Given the description of an element on the screen output the (x, y) to click on. 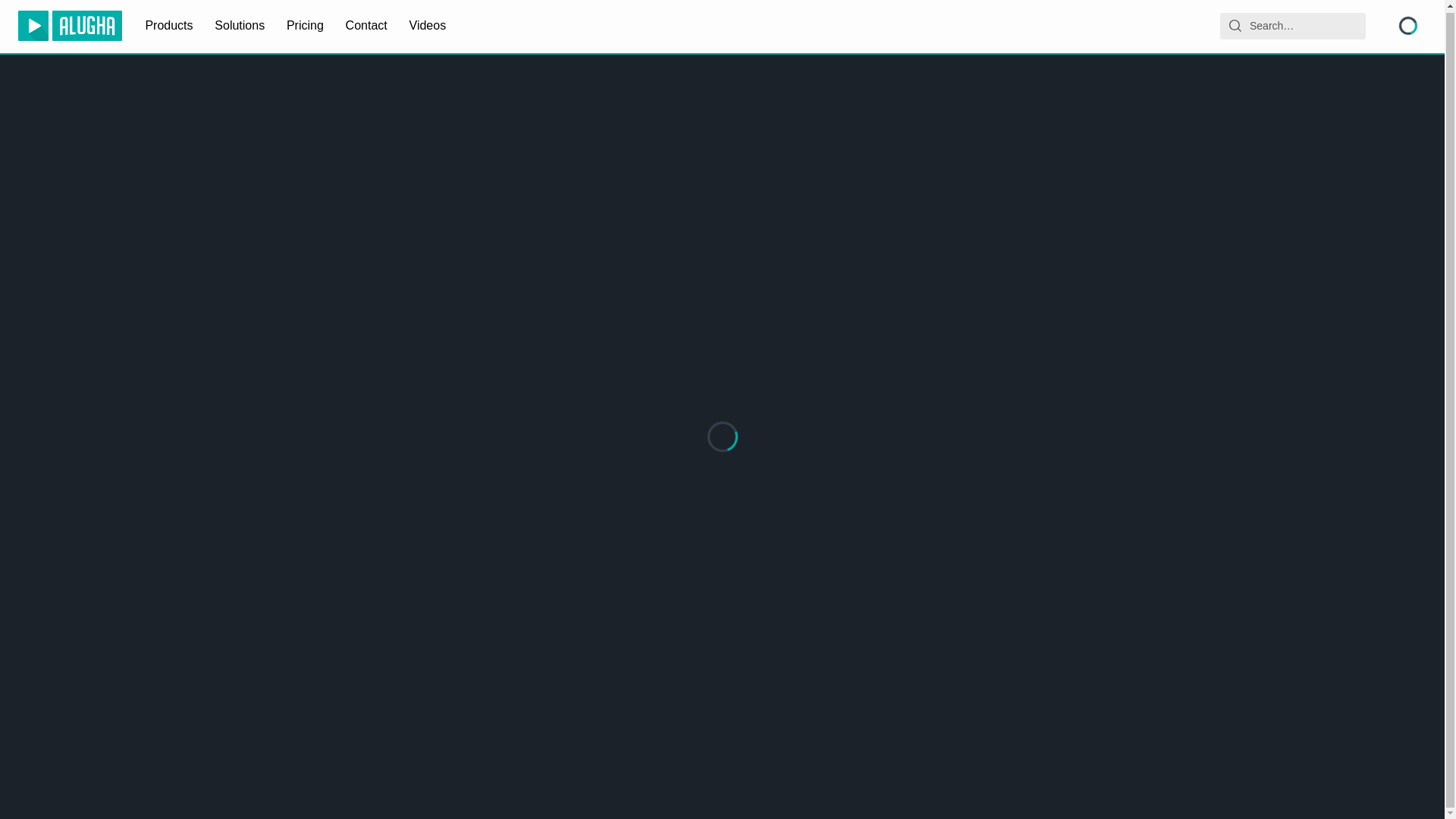
Pricing (304, 25)
Solutions (239, 25)
Videos (427, 25)
alugha (69, 25)
Products (168, 25)
Contact (366, 25)
